Given the description of an element on the screen output the (x, y) to click on. 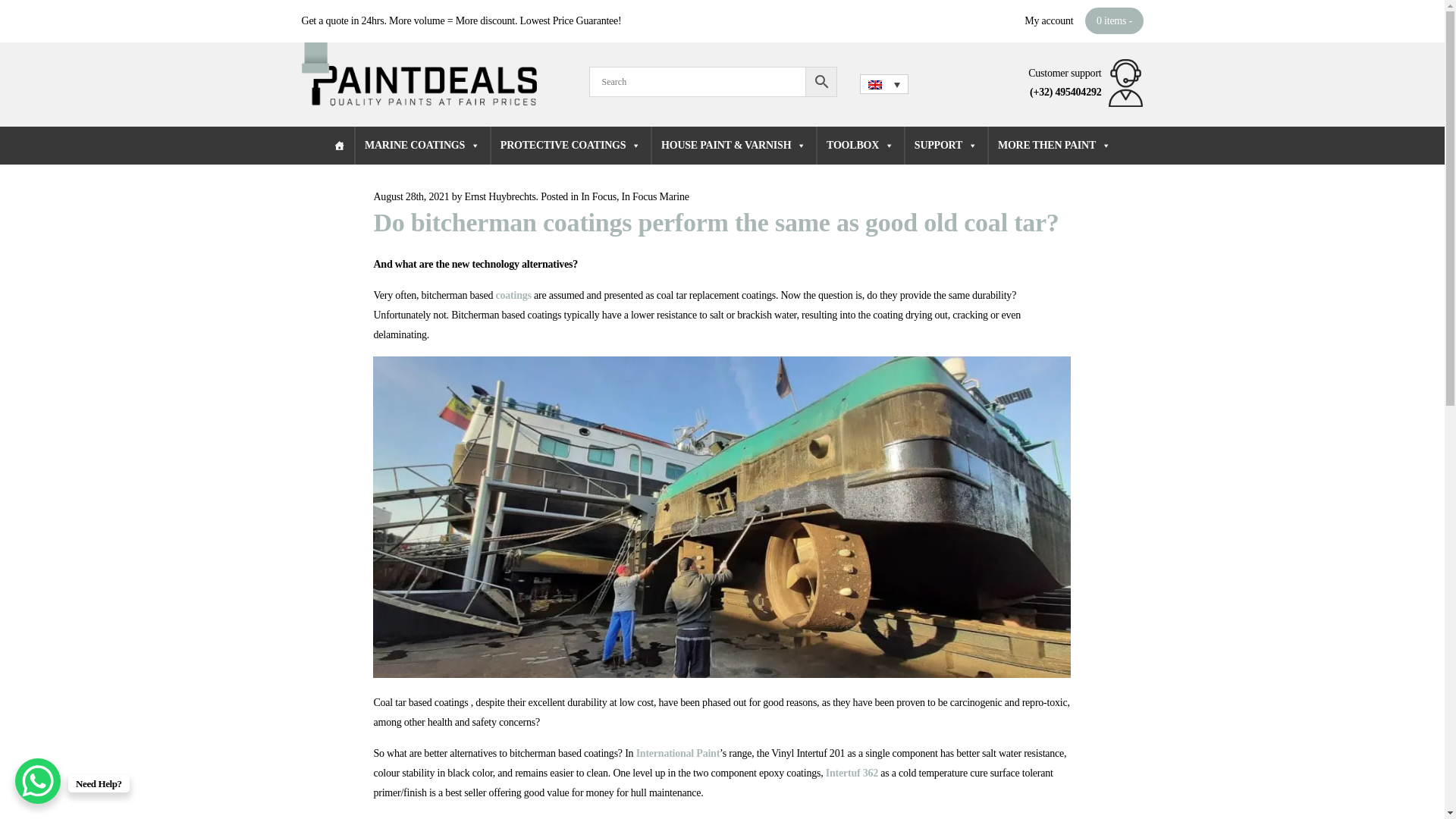
Winkelmand (1113, 20)
MARINE COATINGS (422, 145)
TOOLBOX (860, 145)
My account (1049, 20)
PaintDeals.com (419, 74)
0 items - (1113, 20)
Posts by Ernst Huybrechts (499, 196)
PROTECTIVE COATINGS (570, 145)
